Given the description of an element on the screen output the (x, y) to click on. 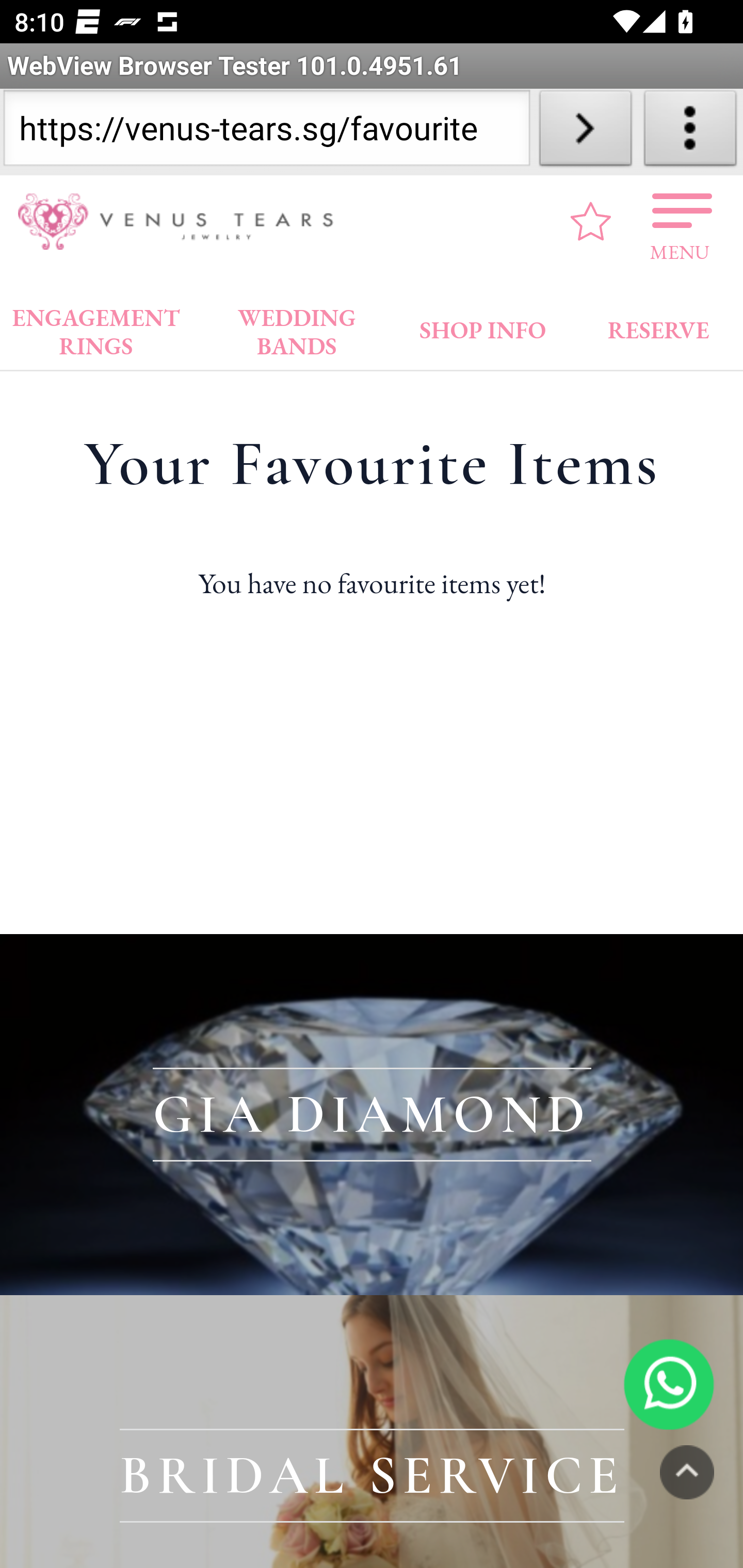
https://venus-tears.sg/favourite (266, 132)
Load URL (585, 132)
About WebView (690, 132)
favourite (591, 220)
MENU (680, 220)
VENUS TEARS (181, 221)
ENGAGEMENT RINGS ENGAGEMENT RINGS (96, 326)
WEDDING BANDS WEDDING BANDS (296, 326)
SHOP INFO (482, 325)
RESERVE (657, 325)
GIA DIAMOND (371, 1114)
BRIDAL SERVICE (371, 1431)
6585184875 (668, 1383)
PAGETOP (686, 1472)
